Given the description of an element on the screen output the (x, y) to click on. 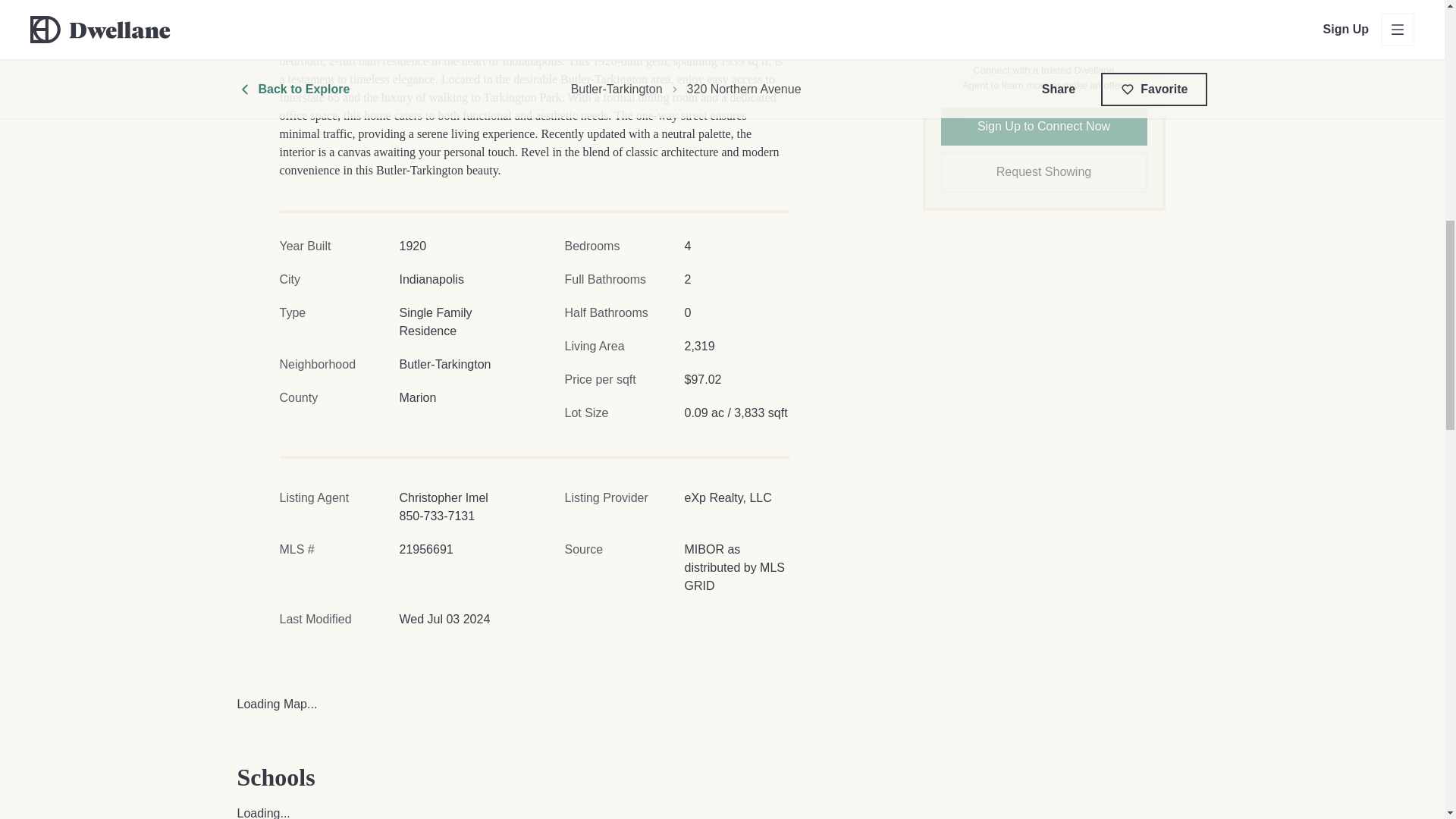
Sign Up to Connect Now (1043, 126)
Christopher Imel (442, 497)
Request Showing (1043, 171)
